Given the description of an element on the screen output the (x, y) to click on. 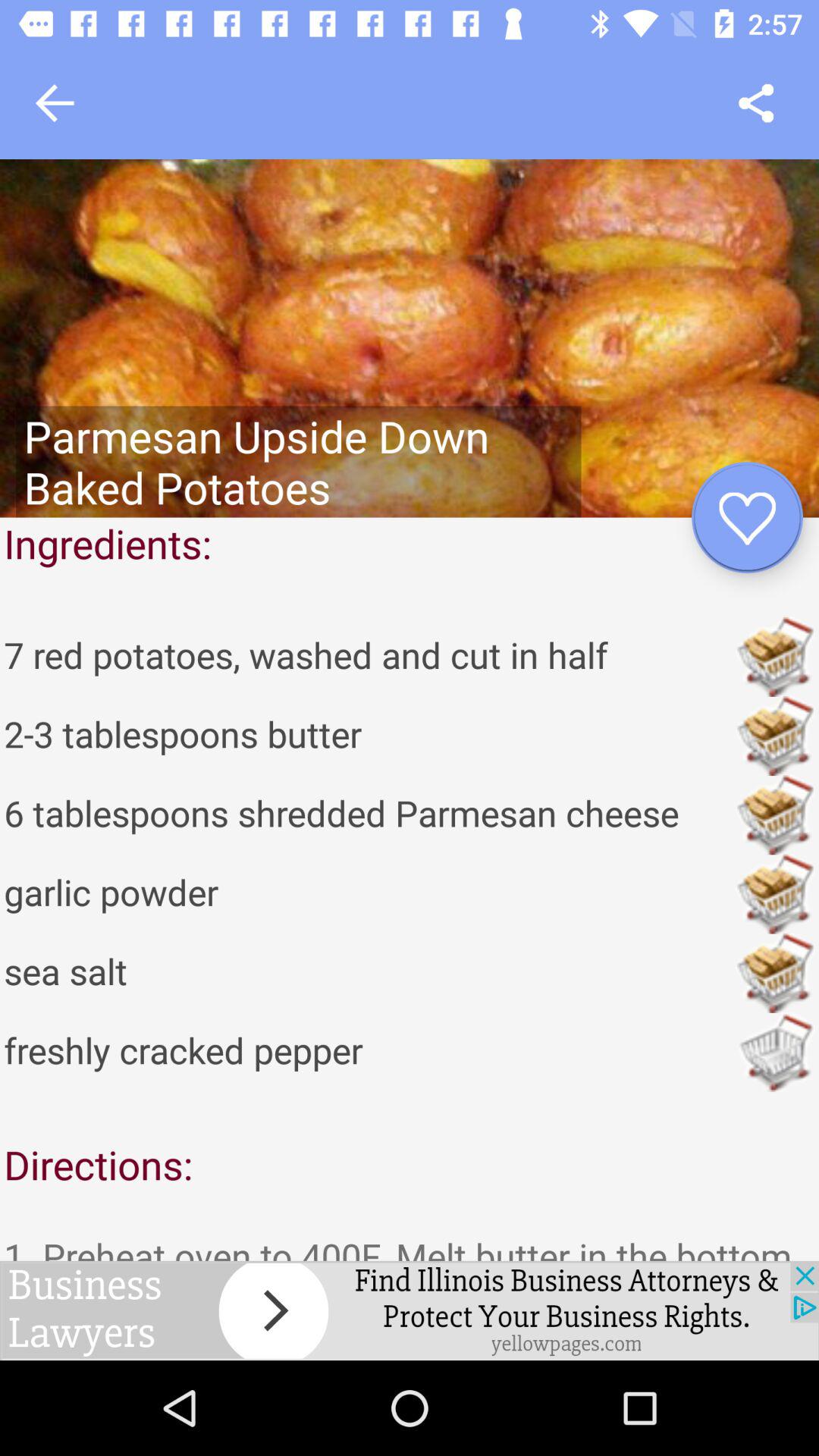
seach pega (756, 103)
